Given the description of an element on the screen output the (x, y) to click on. 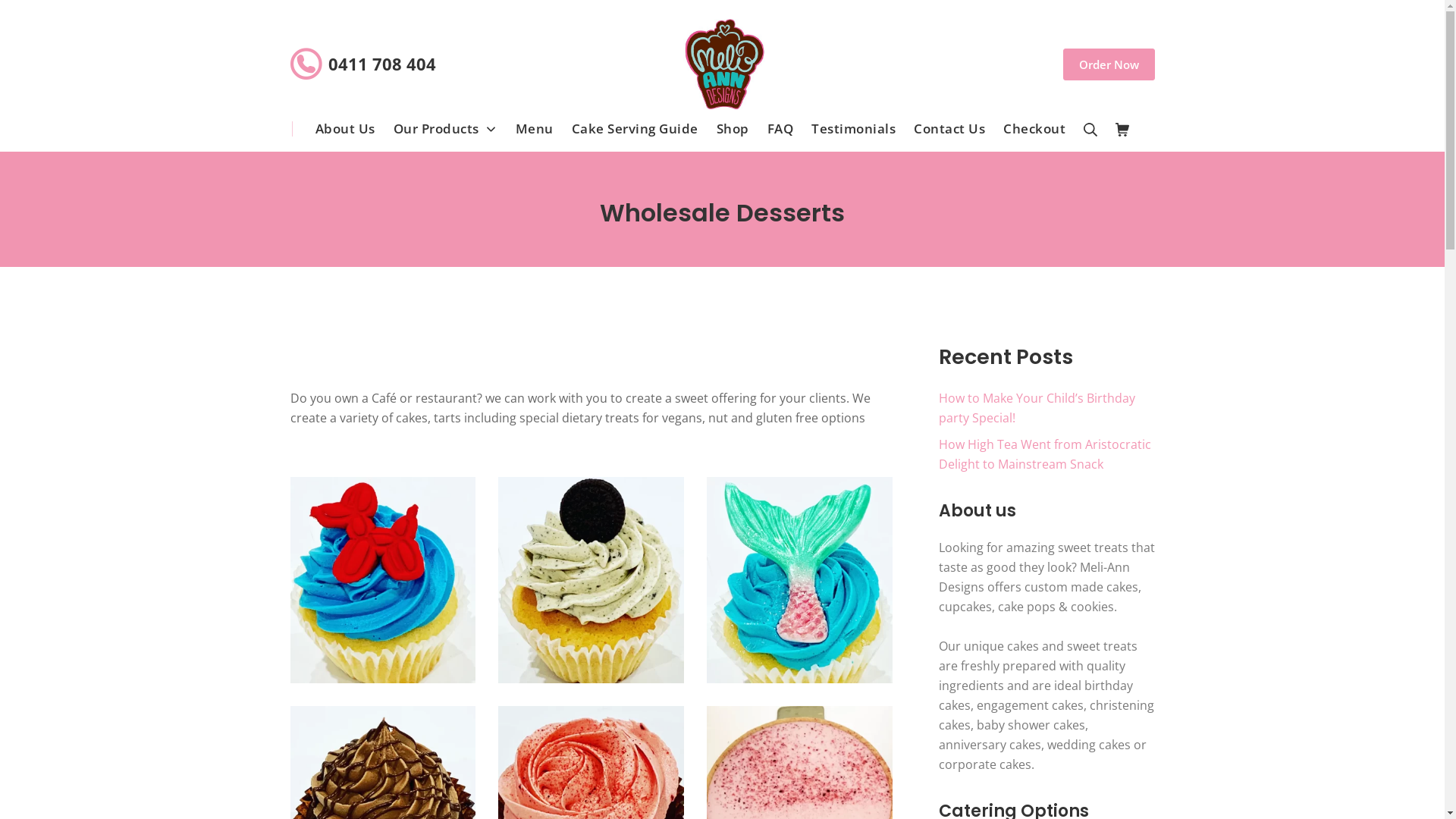
Search Element type: text (34, 15)
Menu Element type: text (534, 128)
Cake Serving Guide Element type: text (634, 128)
Testimonials Element type: text (853, 128)
Checkout Element type: text (1034, 128)
FAQ Element type: text (780, 128)
Search Element type: text (37, 17)
balloon-dog-1 Element type: hover (382, 579)
Search Element type: text (1090, 128)
Order Now Element type: text (1108, 64)
Meli-Ann Designs Element type: text (722, 63)
Shop Element type: text (732, 128)
Shopping Cart Element type: text (1122, 128)
Mermaid Element type: hover (799, 579)
Contact Us Element type: text (949, 128)
Cookies-and-Cream Element type: hover (591, 579)
0411 708 404 Element type: text (381, 62)
About Us Element type: text (345, 128)
Our Products Element type: text (445, 128)
